Given the description of an element on the screen output the (x, y) to click on. 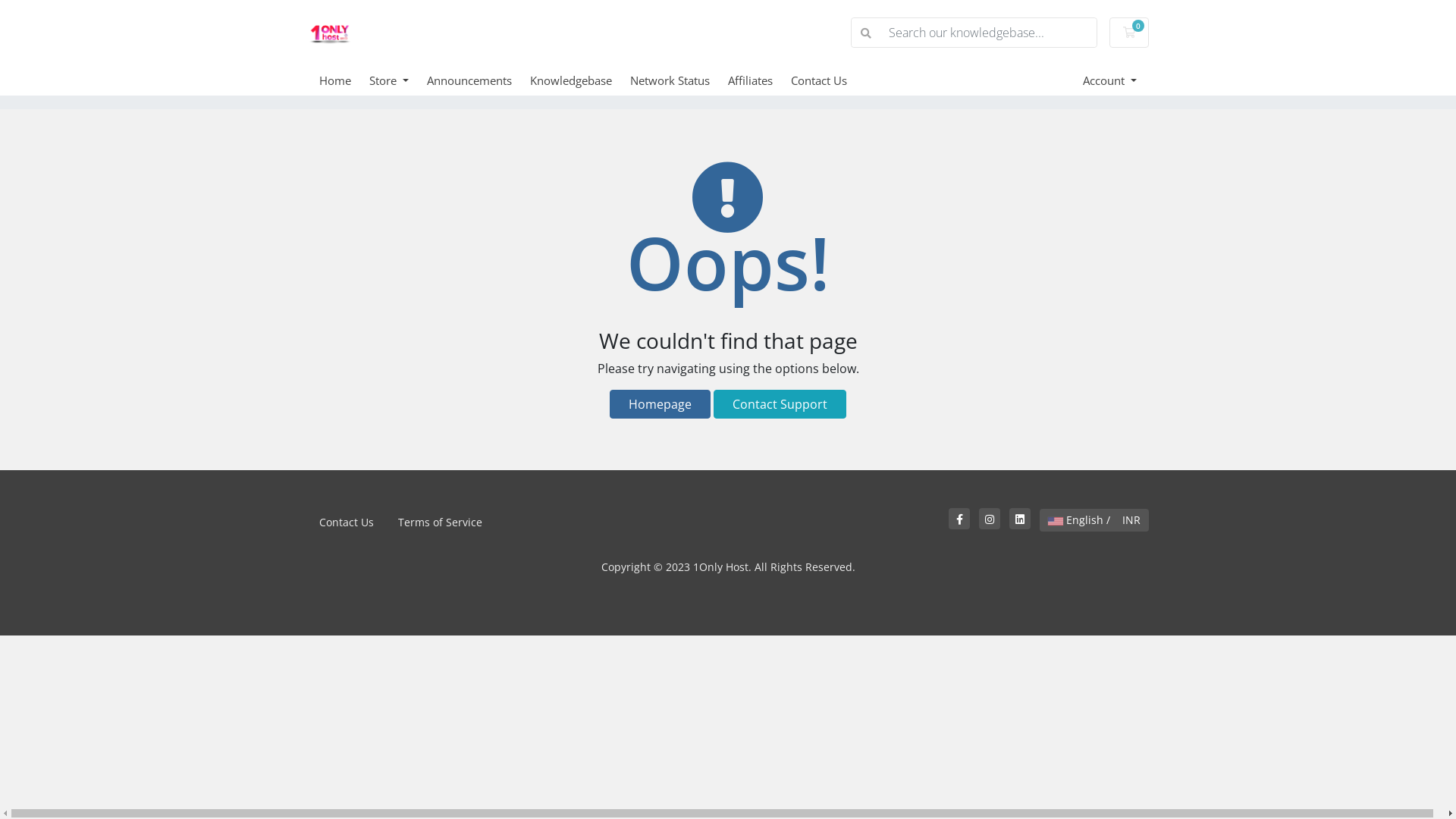
Account Element type: text (1109, 79)
Terms of Service Element type: text (439, 522)
Network Status Element type: text (679, 79)
0
Shopping Cart Element type: text (1128, 32)
Knowledgebase Element type: text (580, 79)
Contact Us Element type: text (827, 79)
Contact Us Element type: text (346, 522)
Home Element type: text (344, 79)
Homepage Element type: text (659, 403)
Contact Support Element type: text (779, 403)
Announcements Element type: text (478, 79)
Affiliates Element type: text (759, 79)
Store Element type: text (397, 79)
